Given the description of an element on the screen output the (x, y) to click on. 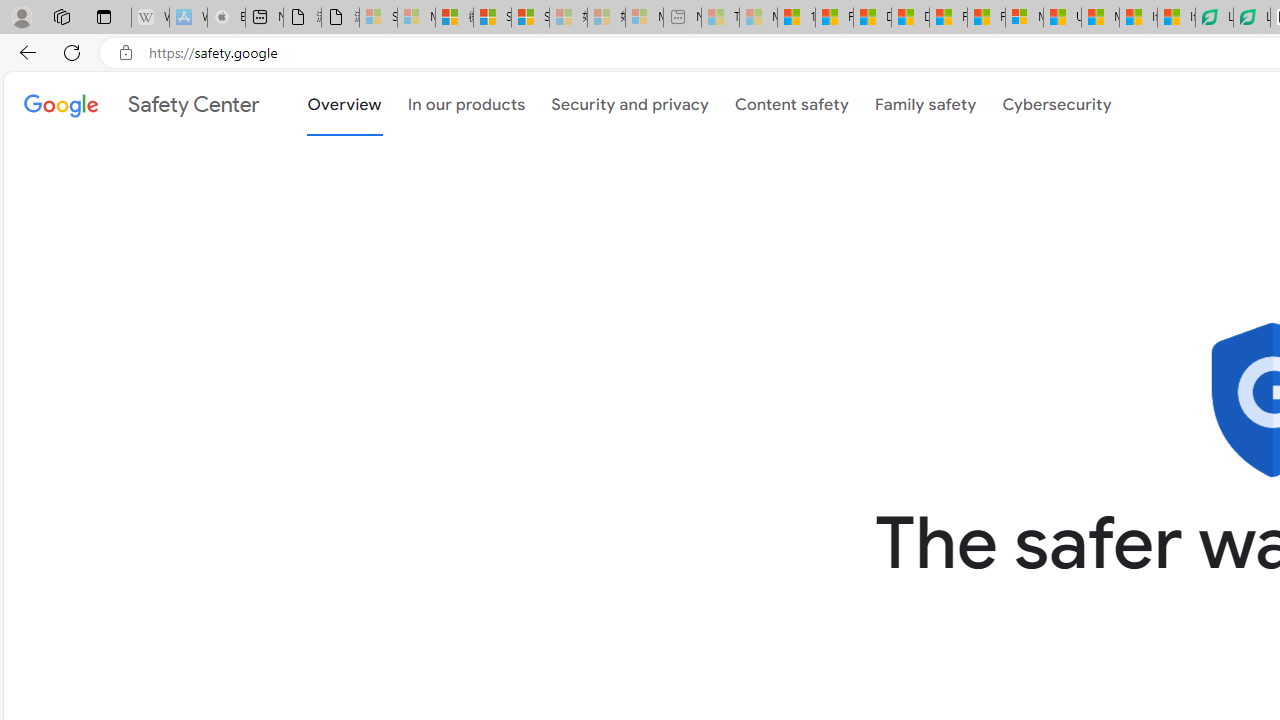
US Heat Deaths Soared To Record High Last Year (1062, 17)
Family safety (925, 103)
Security and privacy (630, 103)
Sign in to your Microsoft account - Sleeping (377, 17)
Overview (344, 102)
Marine life - MSN - Sleeping (757, 17)
Content safety (791, 103)
LendingTree - Compare Lenders (1251, 17)
Cybersecurity (1057, 103)
